Given the description of an element on the screen output the (x, y) to click on. 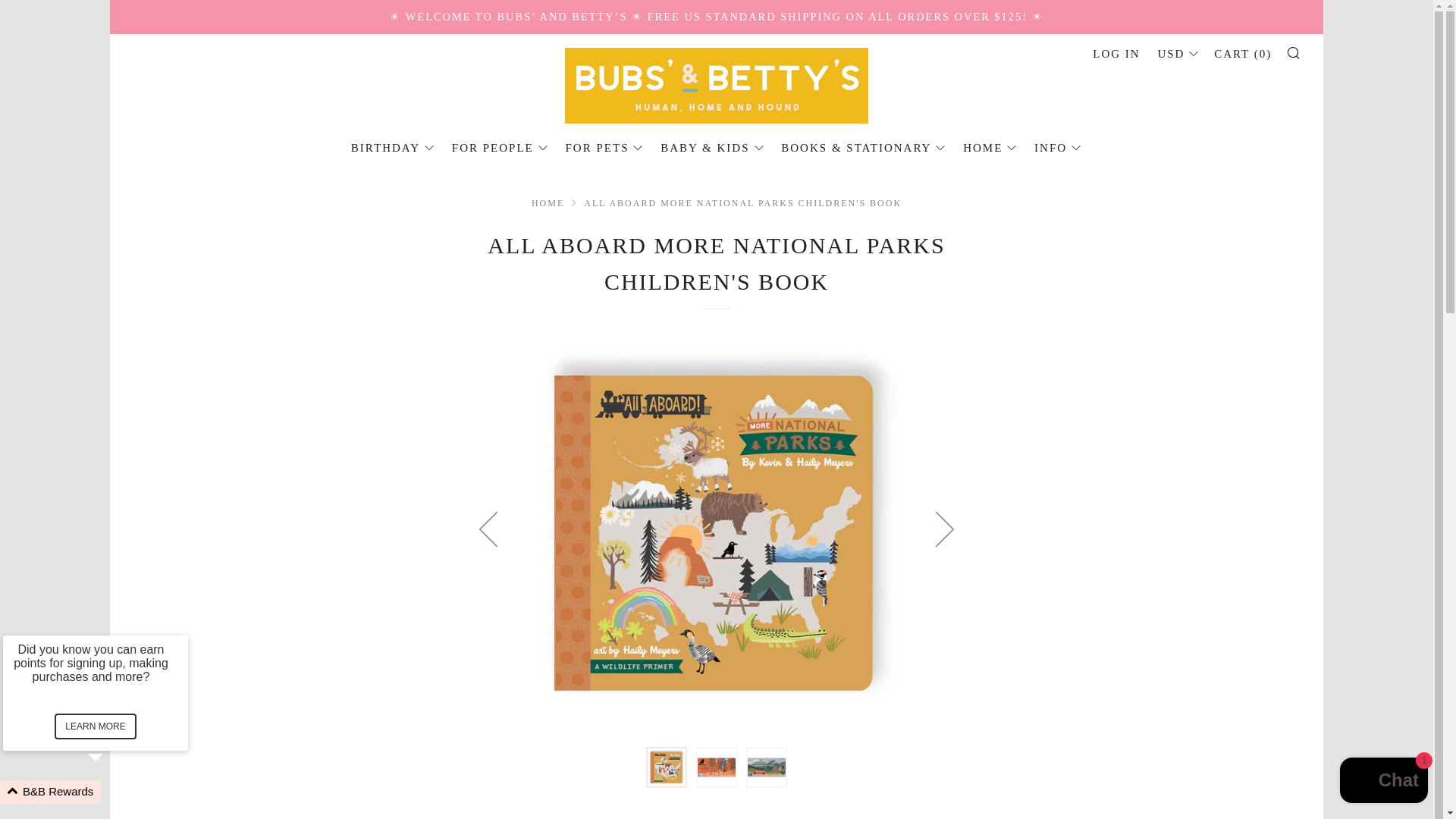
Shopify online store chat (1383, 781)
Home (547, 203)
